Given the description of an element on the screen output the (x, y) to click on. 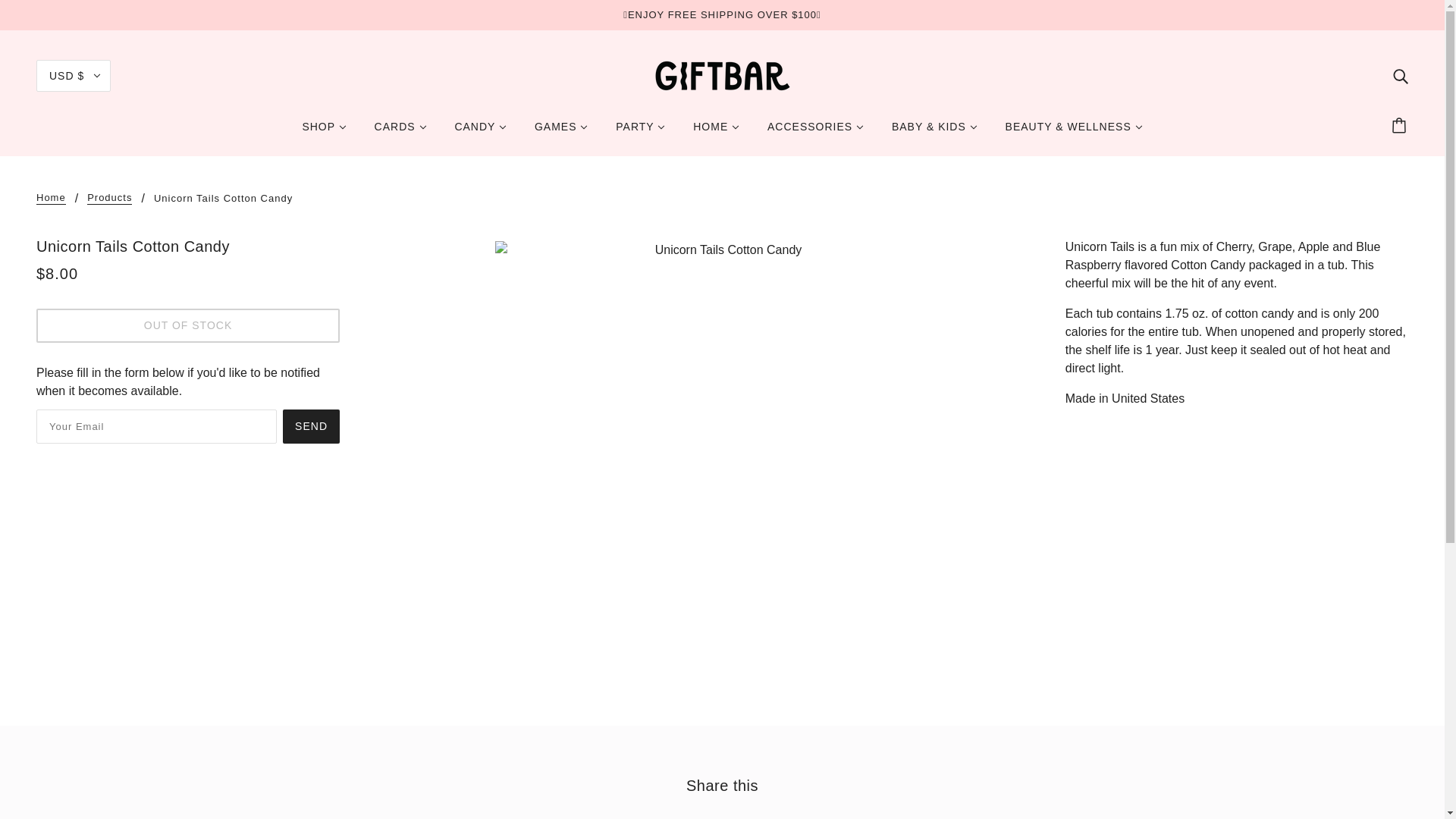
Giftbar (722, 74)
